Given the description of an element on the screen output the (x, y) to click on. 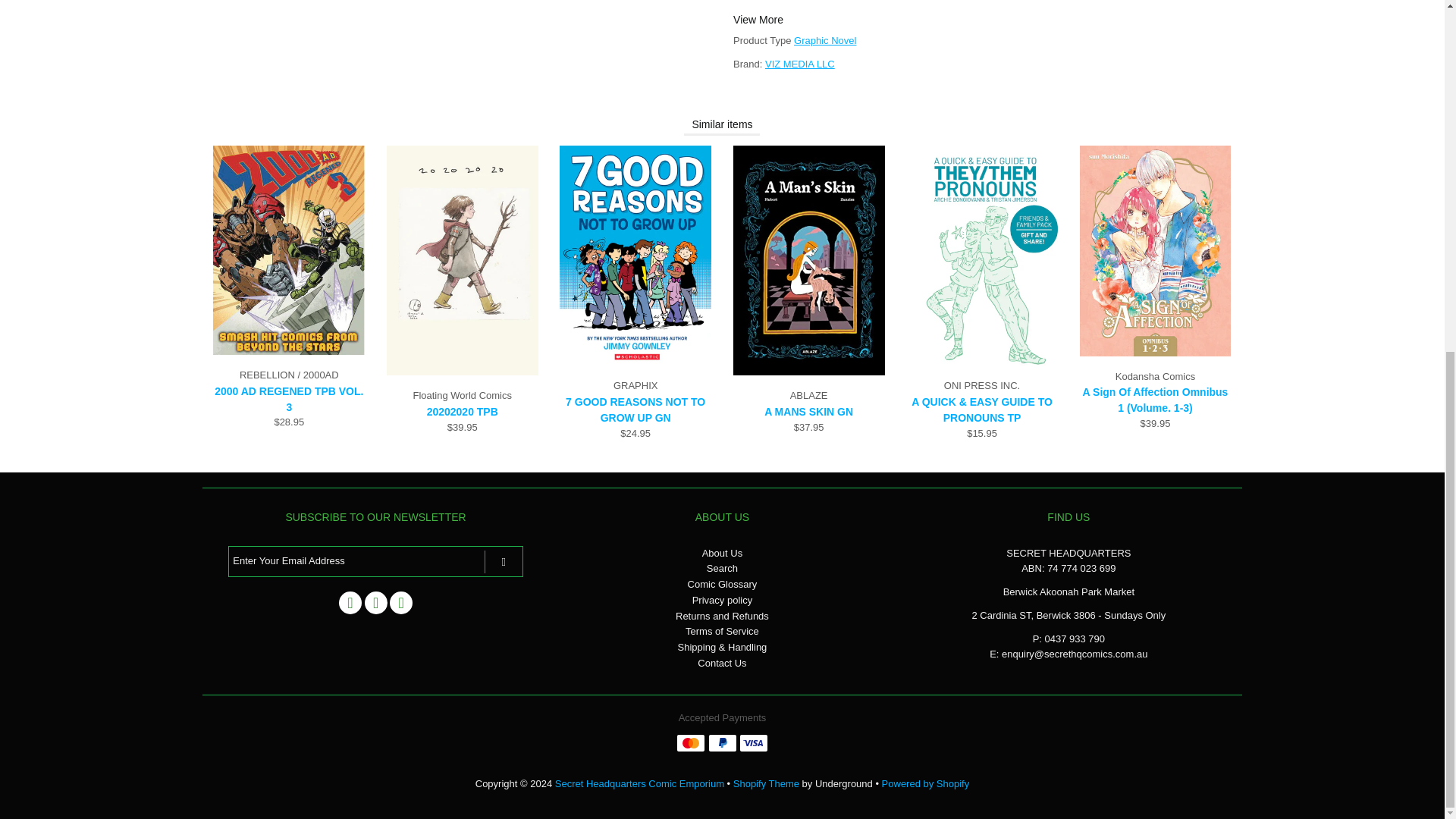
7 GOOD REASONS NOT TO GROW UP GN (635, 362)
Shopify theme (766, 783)
A MANS SKIN GN (809, 371)
VIZ MEDIA LLC (799, 63)
Graphic Novel (824, 40)
2000 AD REGENED TPB VOL. 3 (288, 351)
20202020 TPB (462, 371)
